Given the description of an element on the screen output the (x, y) to click on. 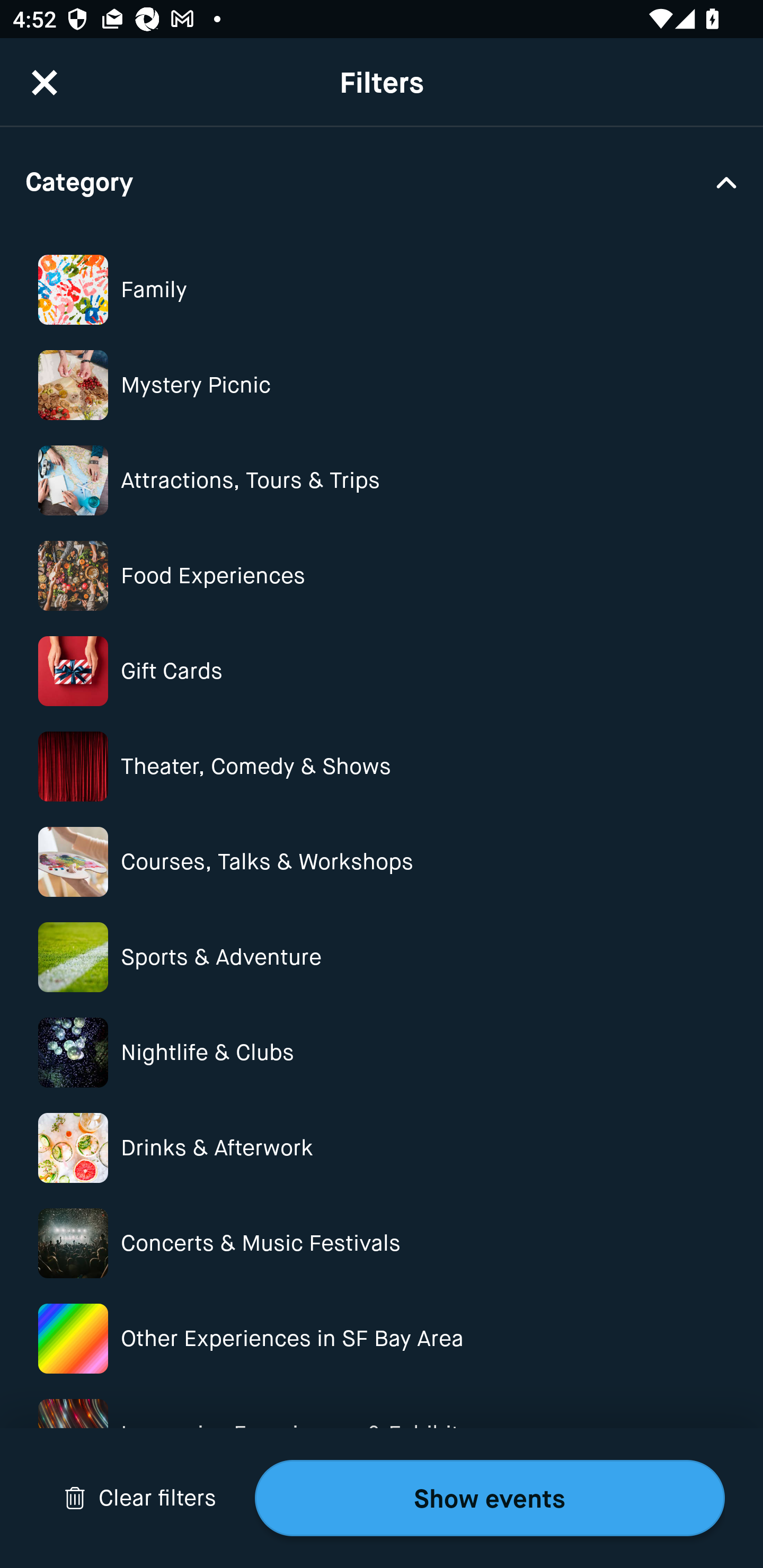
Category Drop Down Arrow (381, 181)
Category Image Family (381, 288)
Category Image Mystery Picnic (381, 384)
Category Image Attractions, Tours & Trips (381, 480)
Category Image Food Experiences (381, 575)
Category Image Gift Cards (381, 670)
Category Image Theater, Comedy & Shows (381, 766)
Category Image Courses, Talks & Workshops (381, 861)
Category Image Sports & Adventure (381, 956)
Category Image Nightlife & Clubs (381, 1052)
Category Image Drinks & Afterwork (381, 1147)
Category Image Concerts & Music Festivals (381, 1243)
Category Image Other Experiences in SF Bay Area (381, 1337)
Drop Down Arrow Clear filters (139, 1497)
Show events (489, 1497)
